Given the description of an element on the screen output the (x, y) to click on. 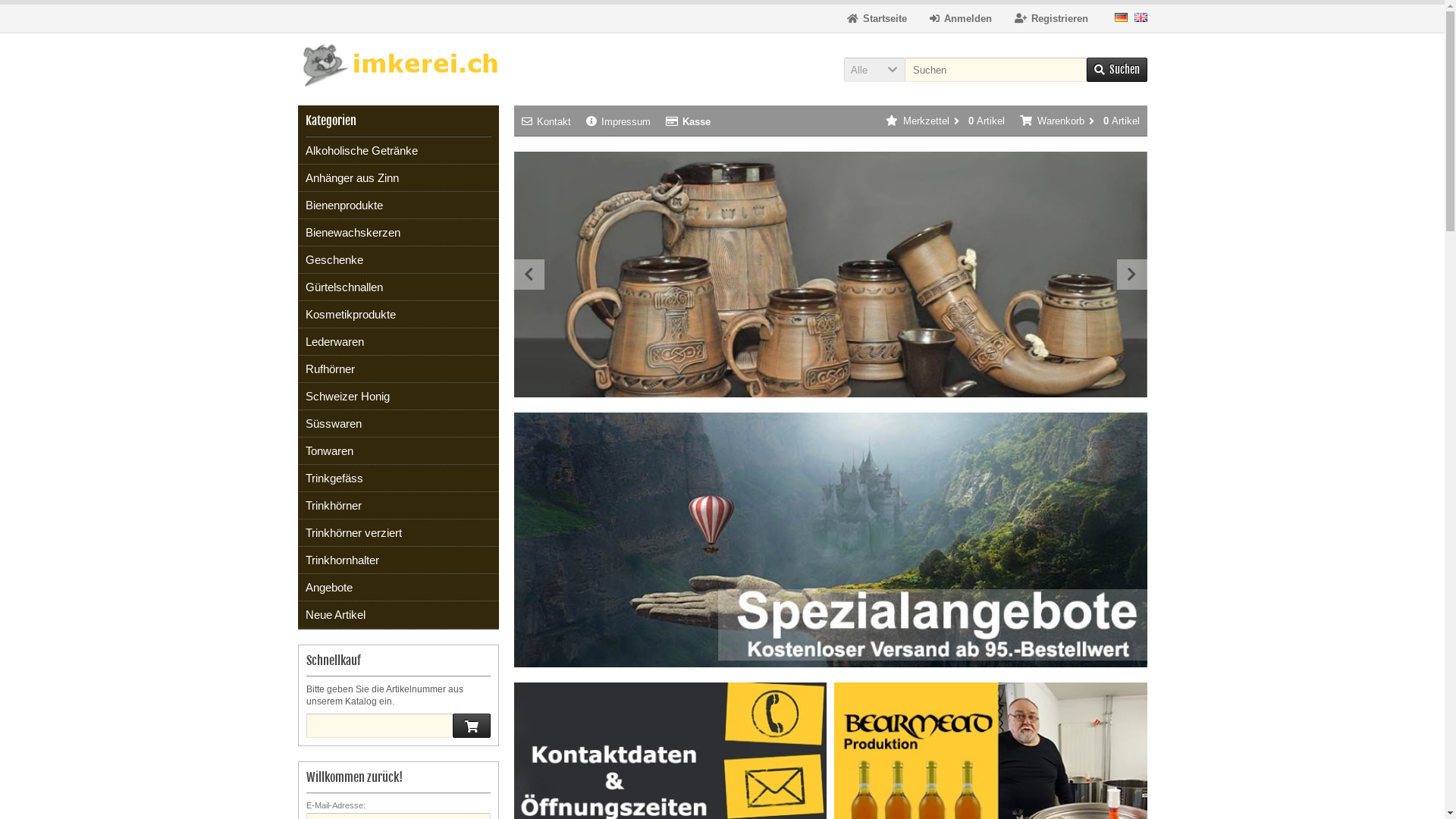
Spezialangebote Element type: hover (830, 539)
Lederwaren Element type: text (397, 341)
Kasse Element type: text (687, 121)
Kosmetikprodukte Element type: text (397, 314)
Bienenprodukte Element type: text (397, 205)
Kontakt Element type: text (546, 121)
Angebote Element type: text (397, 587)
Bienewachskerzen Element type: text (397, 232)
Neue Artikel Element type: text (397, 614)
English Element type: hover (1140, 16)
Previous Element type: text (529, 274)
Geschenke Element type: text (397, 259)
Deutsch Element type: hover (1120, 16)
Startseite Element type: text (876, 18)
Next Element type: text (1131, 274)
Schweizer Honig Element type: text (397, 396)
Trinkhornhalter Element type: text (397, 560)
Registrieren Element type: text (1051, 18)
Tonwaren Element type: text (397, 450)
Impressum Element type: text (617, 121)
Anmelden Element type: text (960, 18)
